Given the description of an element on the screen output the (x, y) to click on. 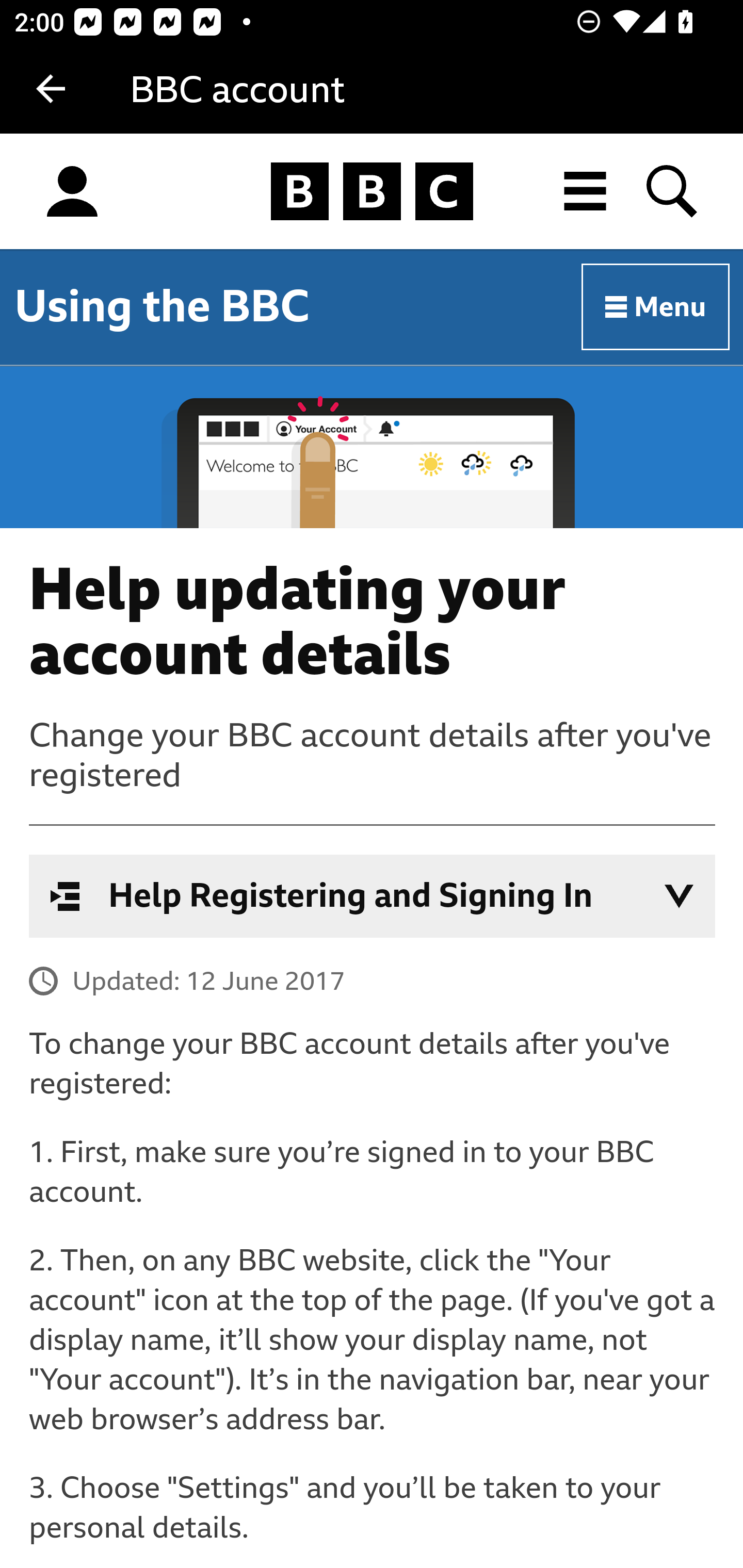
All BBC destinations menu (585, 191)
Search BBC (672, 191)
Sign in (71, 192)
Homepage (371, 192)
Menu (656, 307)
Using the BBC (162, 306)
Open in-page navigation (679, 896)
